Given the description of an element on the screen output the (x, y) to click on. 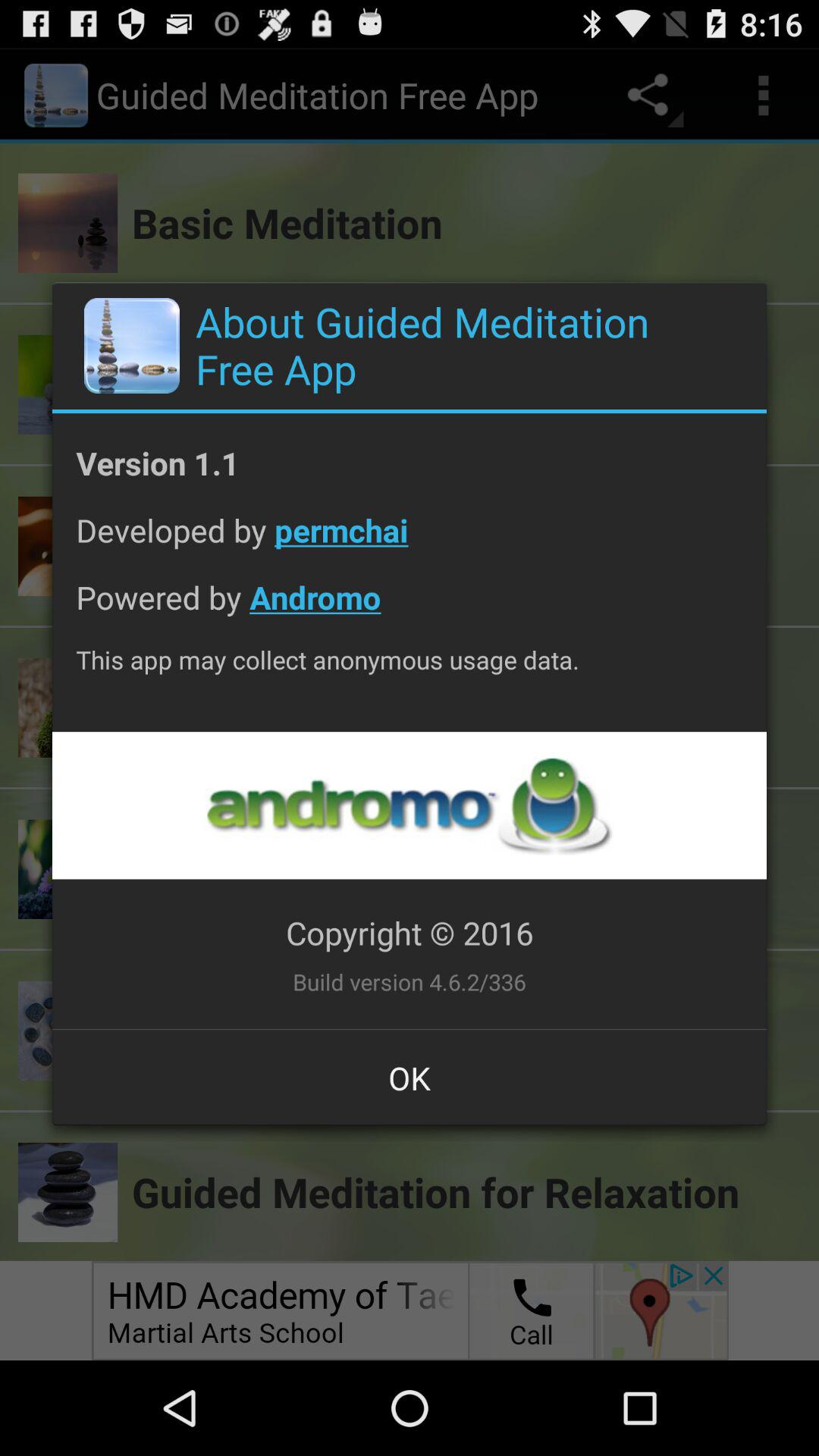
scroll until the powered by andromo item (409, 608)
